Given the description of an element on the screen output the (x, y) to click on. 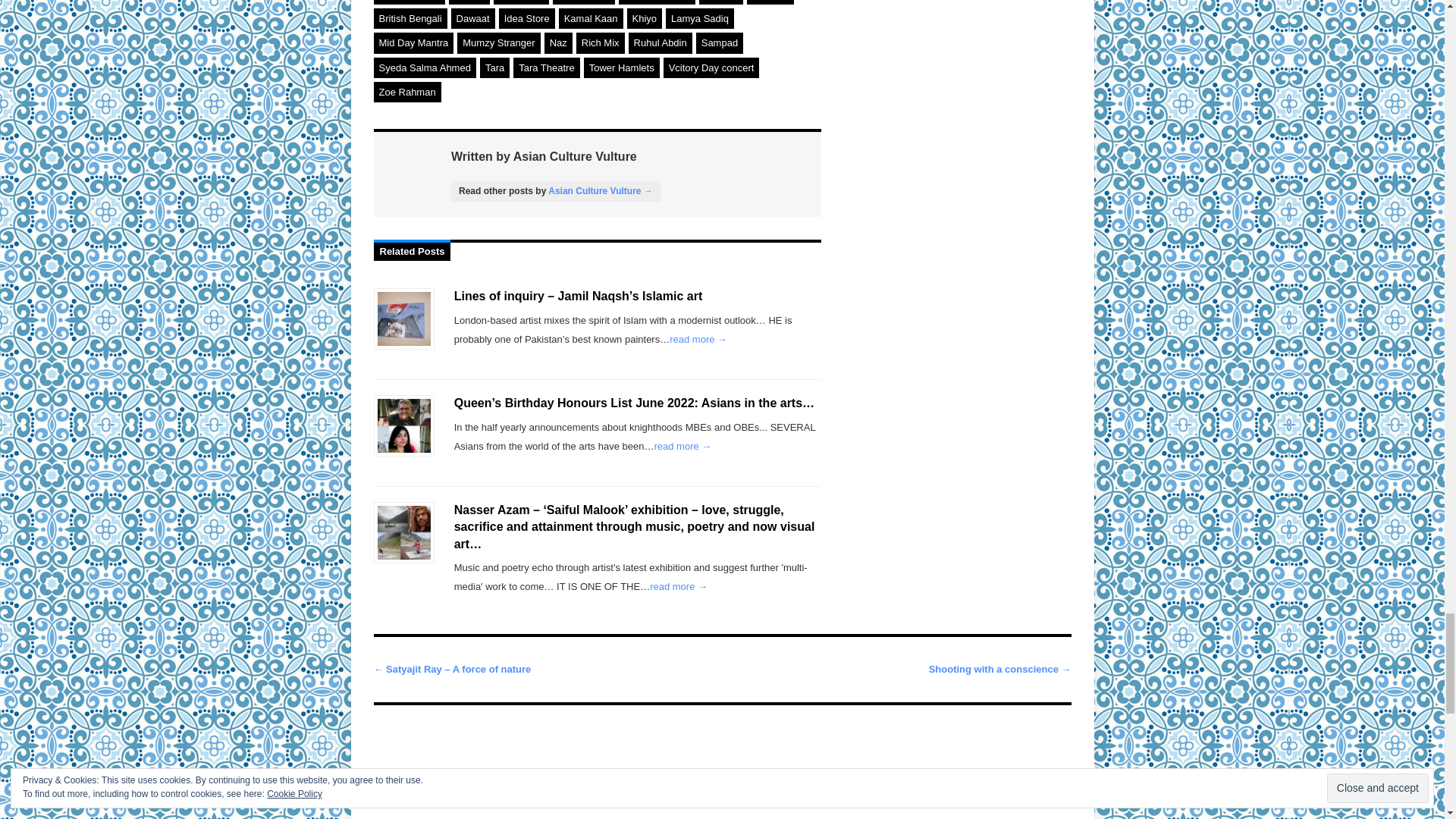
Bangladesh 50 (656, 2)
Abdul Shayak (408, 2)
Bangla (468, 2)
Bangla 50 (520, 2)
Bangladesh (584, 2)
